Given the description of an element on the screen output the (x, y) to click on. 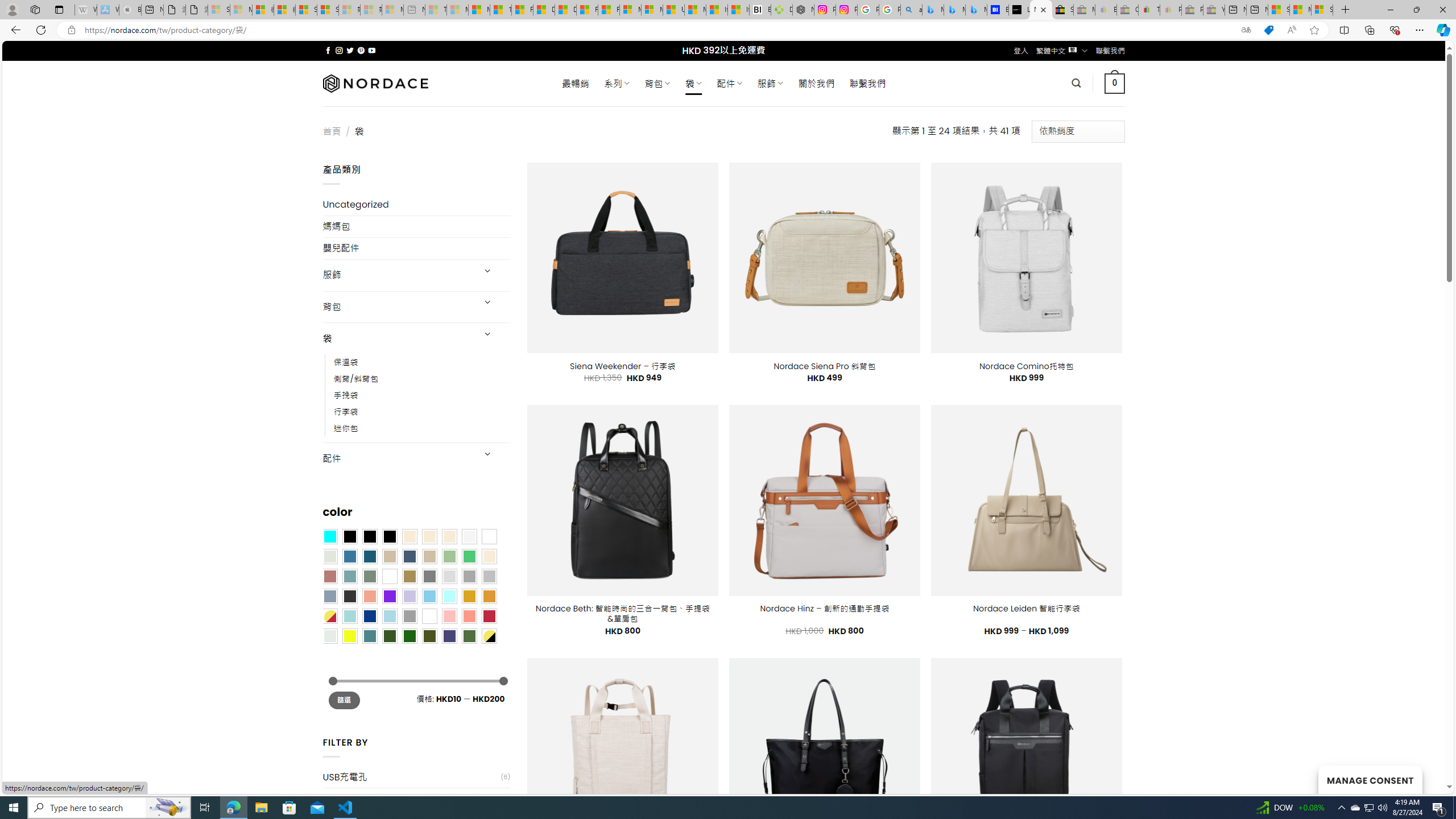
Buy iPad - Apple - Sleeping (130, 9)
Dull Nickle (329, 635)
